Given the description of an element on the screen output the (x, y) to click on. 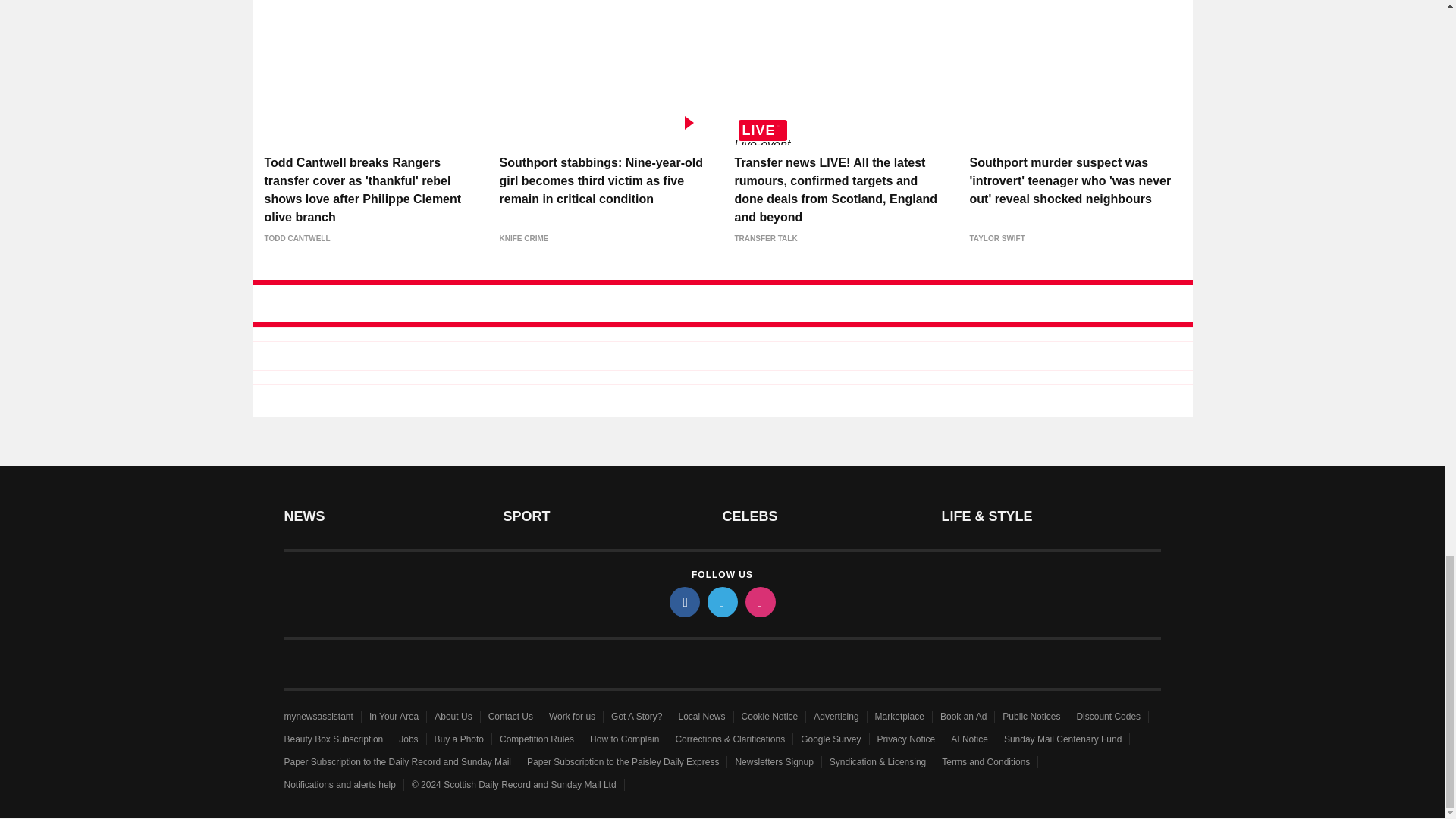
twitter (721, 602)
facebook (683, 602)
instagram (759, 602)
